Given the description of an element on the screen output the (x, y) to click on. 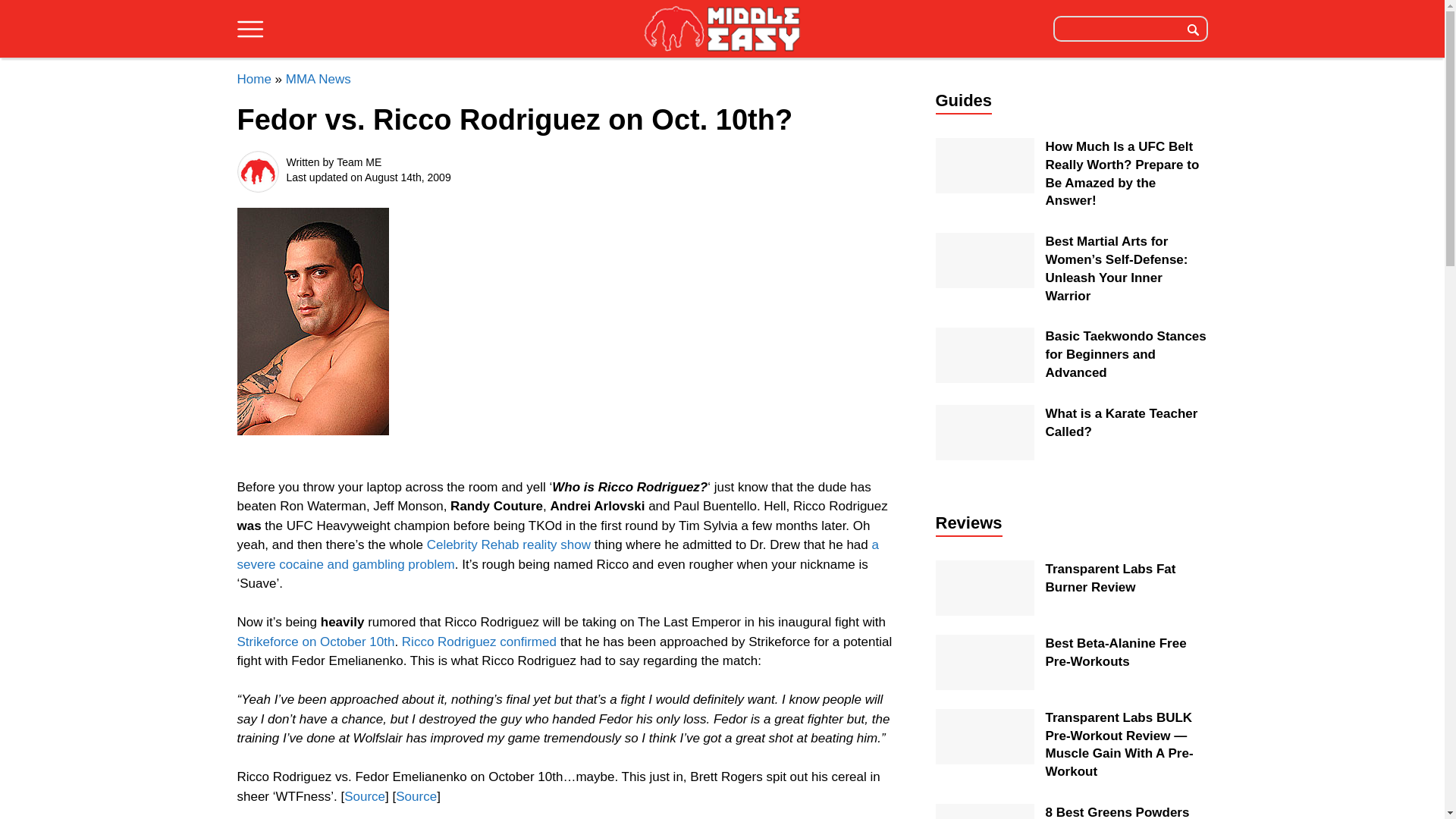
MiddleEasy (721, 29)
MiddleEasy (721, 28)
GO (1193, 28)
